Given the description of an element on the screen output the (x, y) to click on. 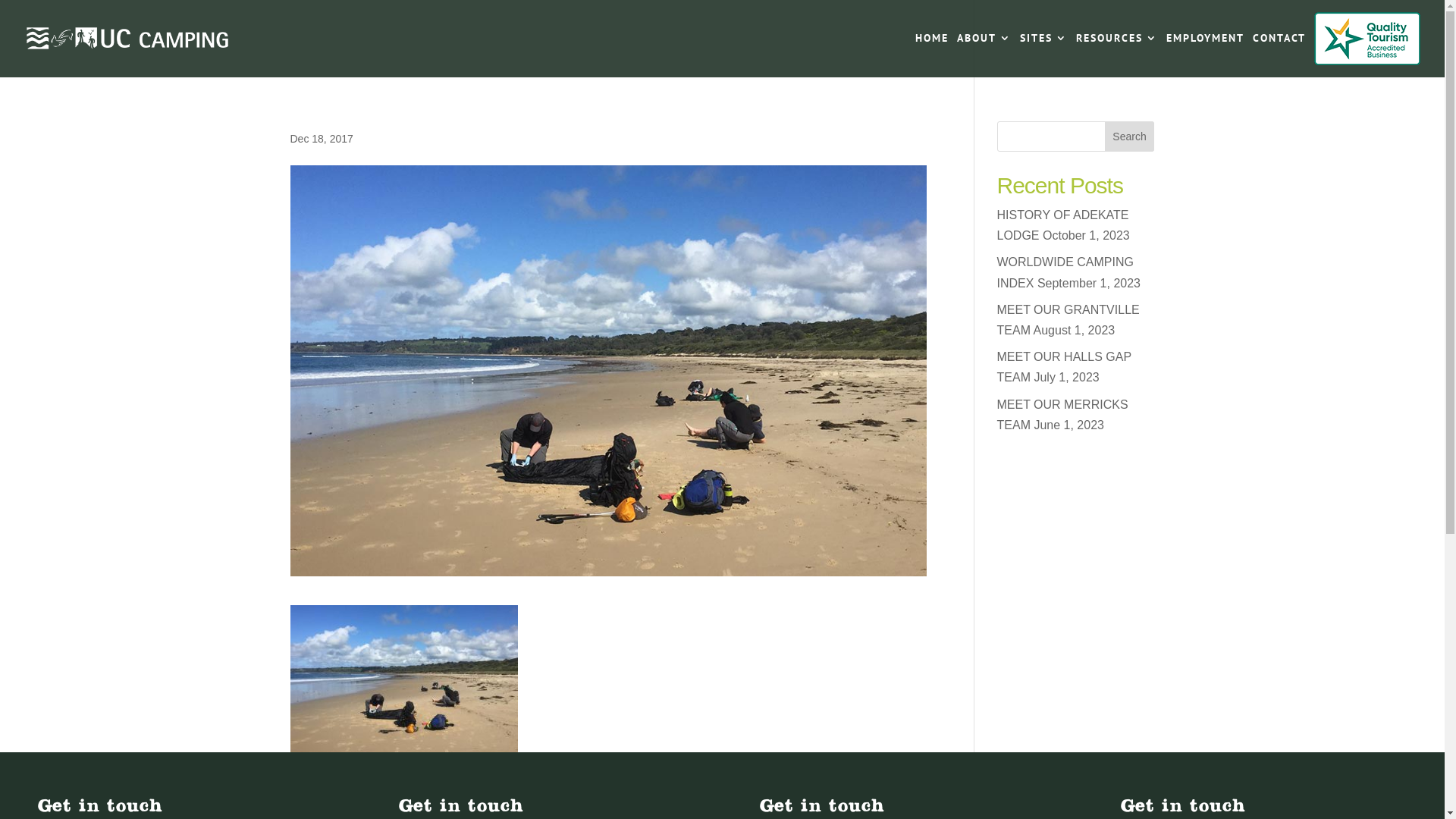
UCC Grantville site visit July 2021 Element type: hover (1075, 502)
MEET OUR HALLS GAP TEAM Element type: text (1064, 366)
SITES Element type: text (1043, 42)
HOME Element type: text (931, 42)
MEET OUR GRANTVILLE TEAM Element type: text (1068, 319)
CONTACT Element type: text (1278, 42)
ABOUT Element type: text (984, 42)
Search Element type: text (1129, 136)
RESOURCES Element type: text (1116, 42)
EMPLOYMENT Element type: text (1205, 42)
MEET OUR MERRICKS TEAM Element type: text (1062, 413)
HISTORY OF ADEKATE LODGE Element type: text (1063, 224)
WORLDWIDE CAMPING INDEX Element type: text (1065, 271)
